Given the description of an element on the screen output the (x, y) to click on. 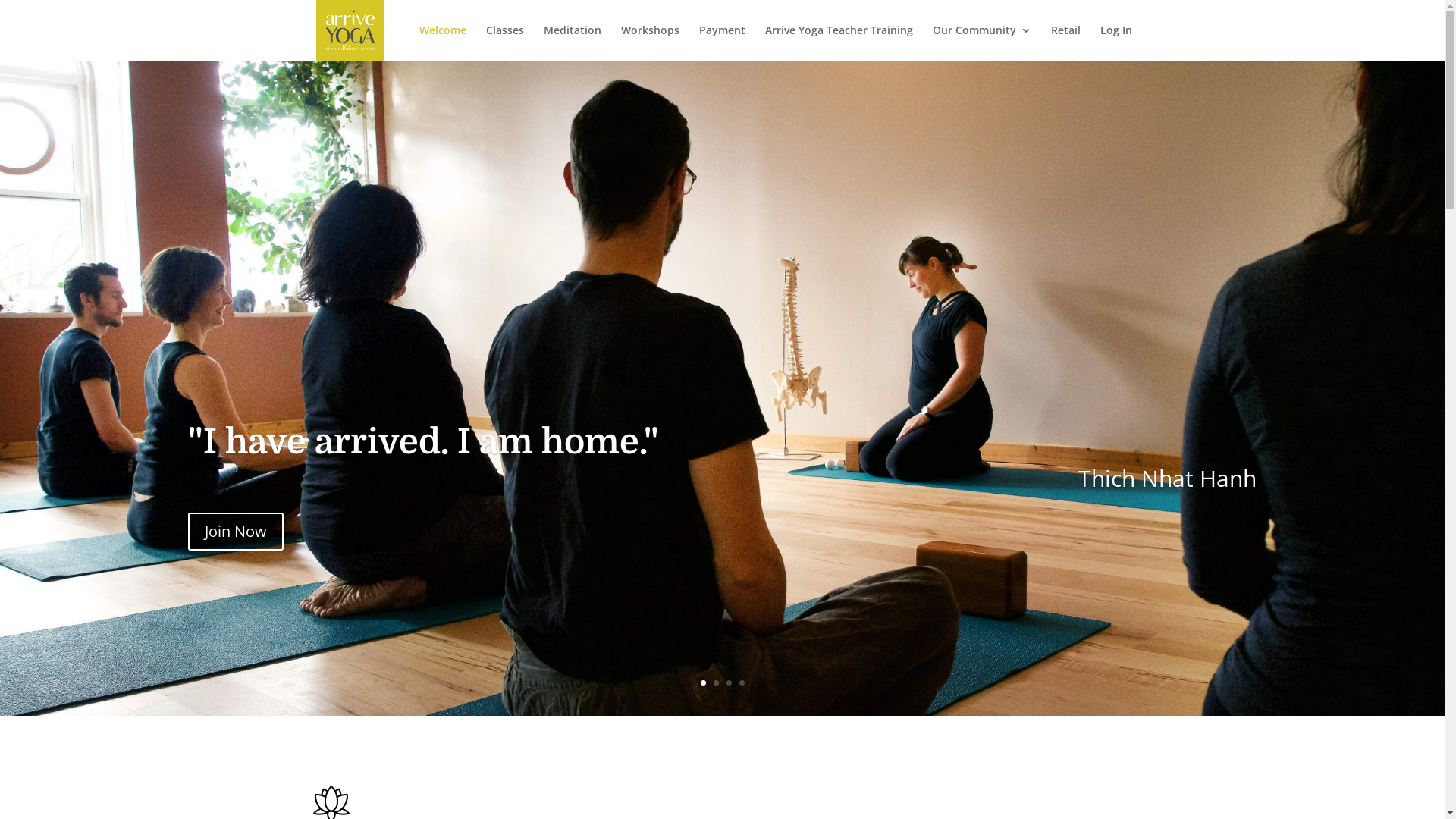
Classes Element type: text (504, 42)
3 Element type: text (728, 682)
Payment Element type: text (722, 42)
Arrive Yoga Teacher Training Element type: text (838, 42)
Join Now Element type: text (235, 532)
Retail Element type: text (1065, 42)
1 Element type: text (703, 682)
"I have arrived. I am home." Element type: text (423, 442)
4 Element type: text (740, 682)
Meditation Element type: text (571, 42)
Workshops Element type: text (649, 42)
Log In Element type: text (1115, 42)
2 Element type: text (715, 682)
Welcome Element type: text (441, 42)
Our Community Element type: text (981, 42)
